Given the description of an element on the screen output the (x, y) to click on. 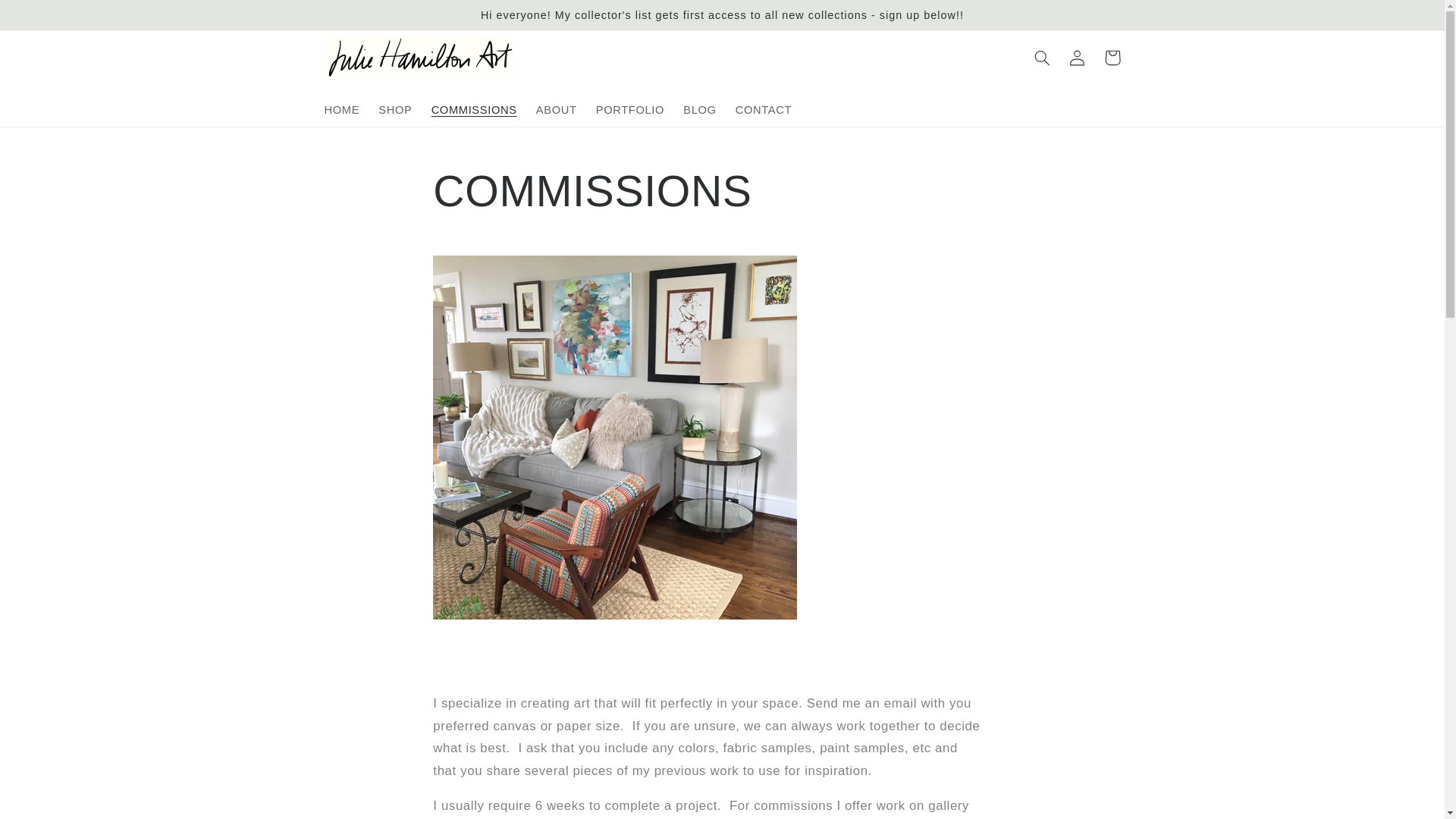
COMMISSIONS (473, 109)
ABOUT (555, 109)
HOME (341, 109)
SHOP (395, 109)
Cart (1111, 57)
Skip to content (48, 18)
BLOG (700, 109)
PORTFOLIO (629, 109)
Log in (1076, 57)
CONTACT (763, 109)
